Given the description of an element on the screen output the (x, y) to click on. 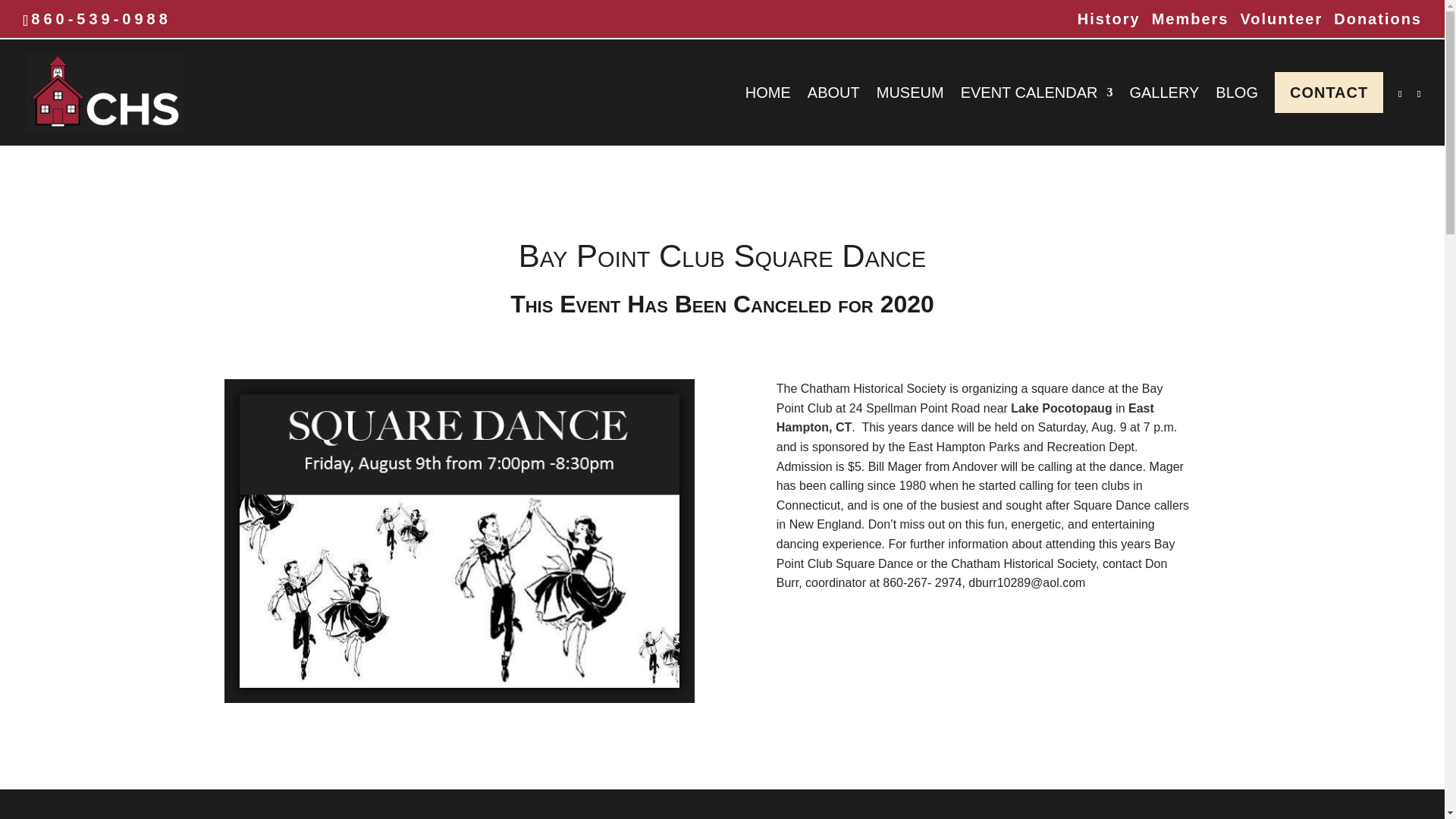
CONTACT (1329, 108)
Volunteer (1281, 24)
MUSEUM (909, 115)
East Hampton, CT Square Dancing (459, 540)
East Hampton, CT (965, 418)
GALLERY (1163, 115)
Members (1189, 24)
Lake Pocotopaug (1061, 408)
EVENT CALENDAR (1036, 115)
History (1108, 24)
